Given the description of an element on the screen output the (x, y) to click on. 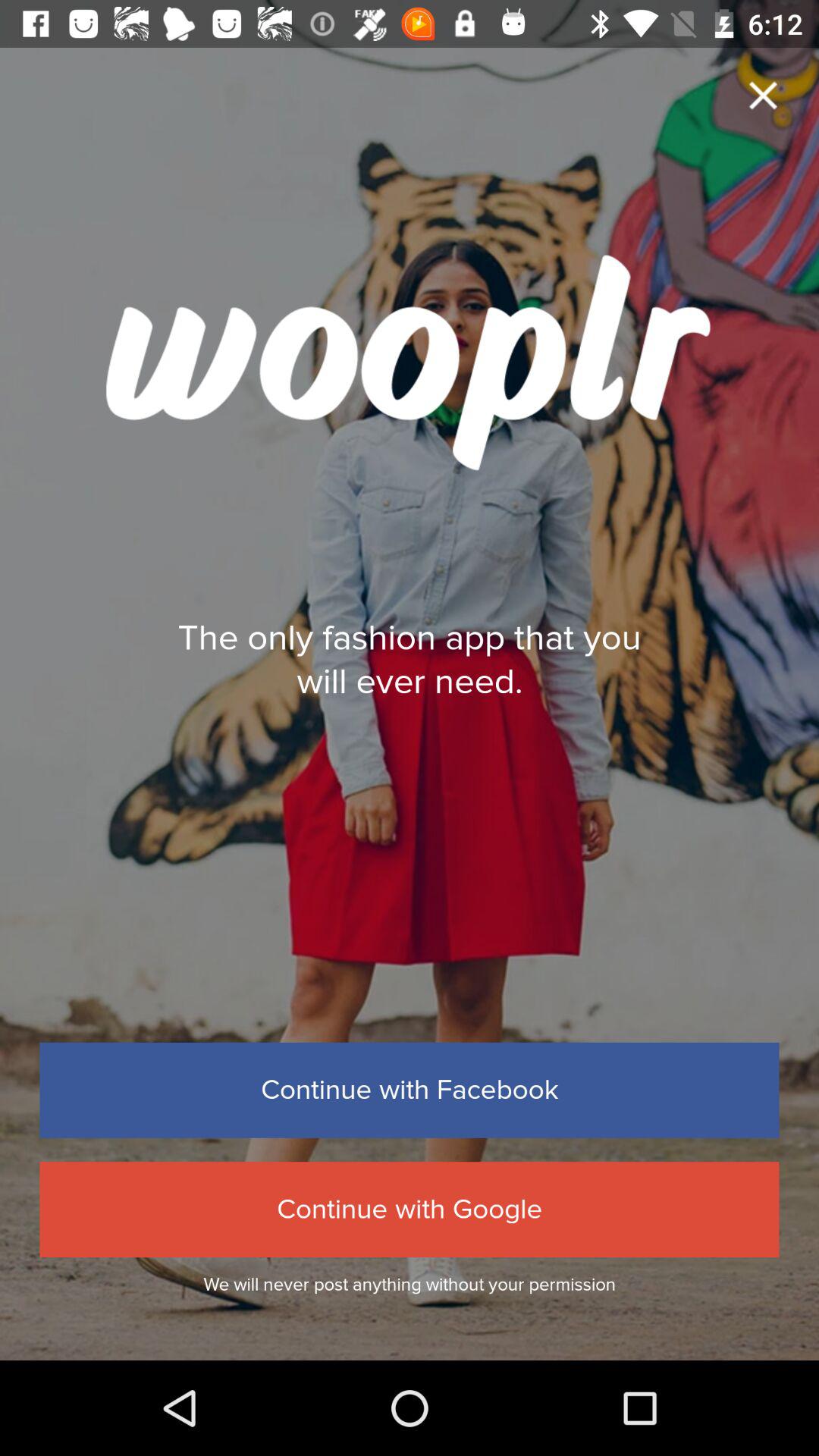
close app (763, 95)
